Given the description of an element on the screen output the (x, y) to click on. 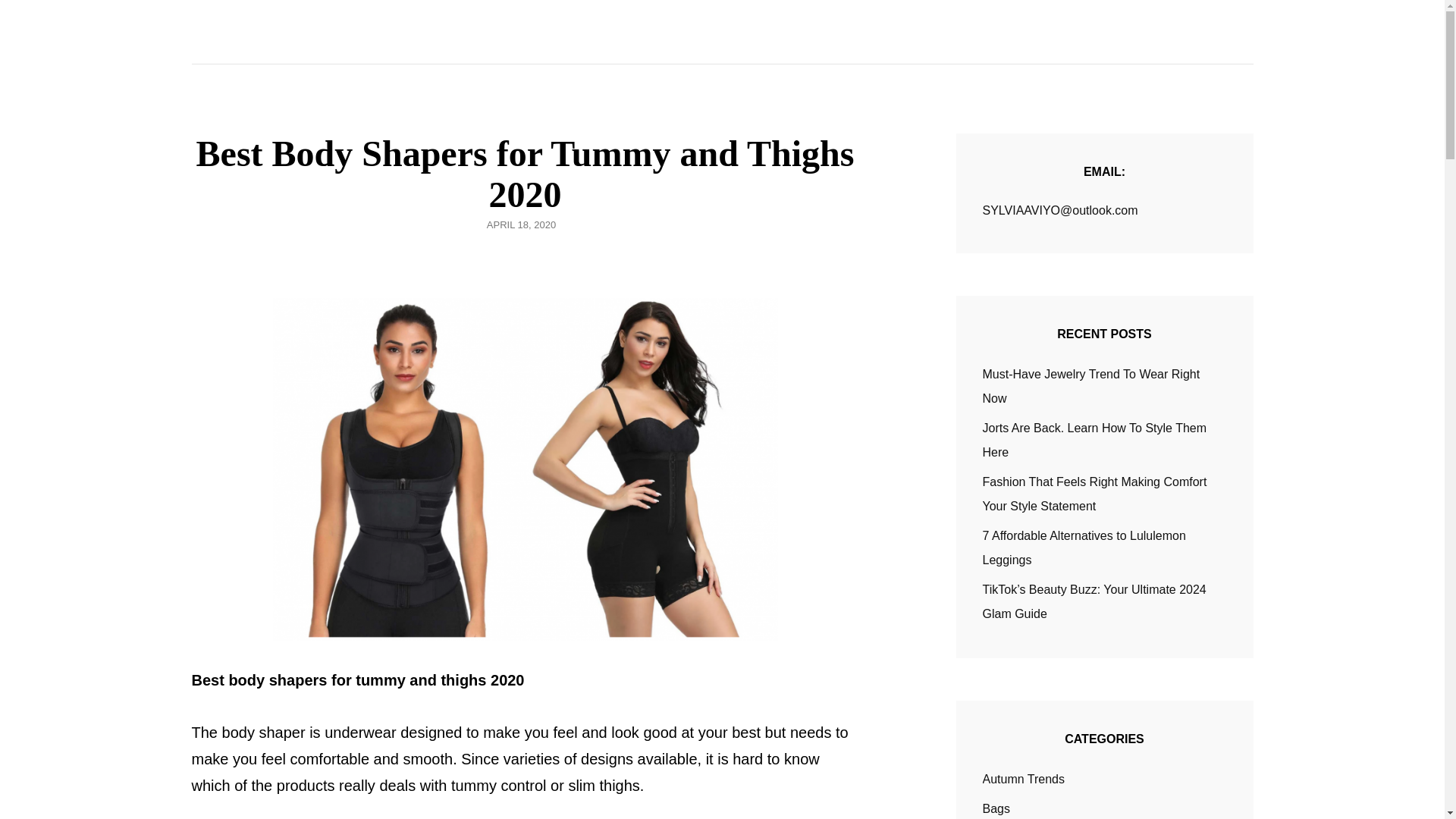
7 Affordable Alternatives to Lululemon Leggings (1084, 547)
APRIL 18, 2020 (521, 224)
Must-Have Jewelry Trend To Wear Right Now (1090, 385)
Autumn Trends (1023, 779)
Fashion That Feels Right Making Comfort Your Style Statement (1094, 493)
Jorts Are Back. Learn How To Style Them Here (1094, 439)
Bags (996, 807)
